Given the description of an element on the screen output the (x, y) to click on. 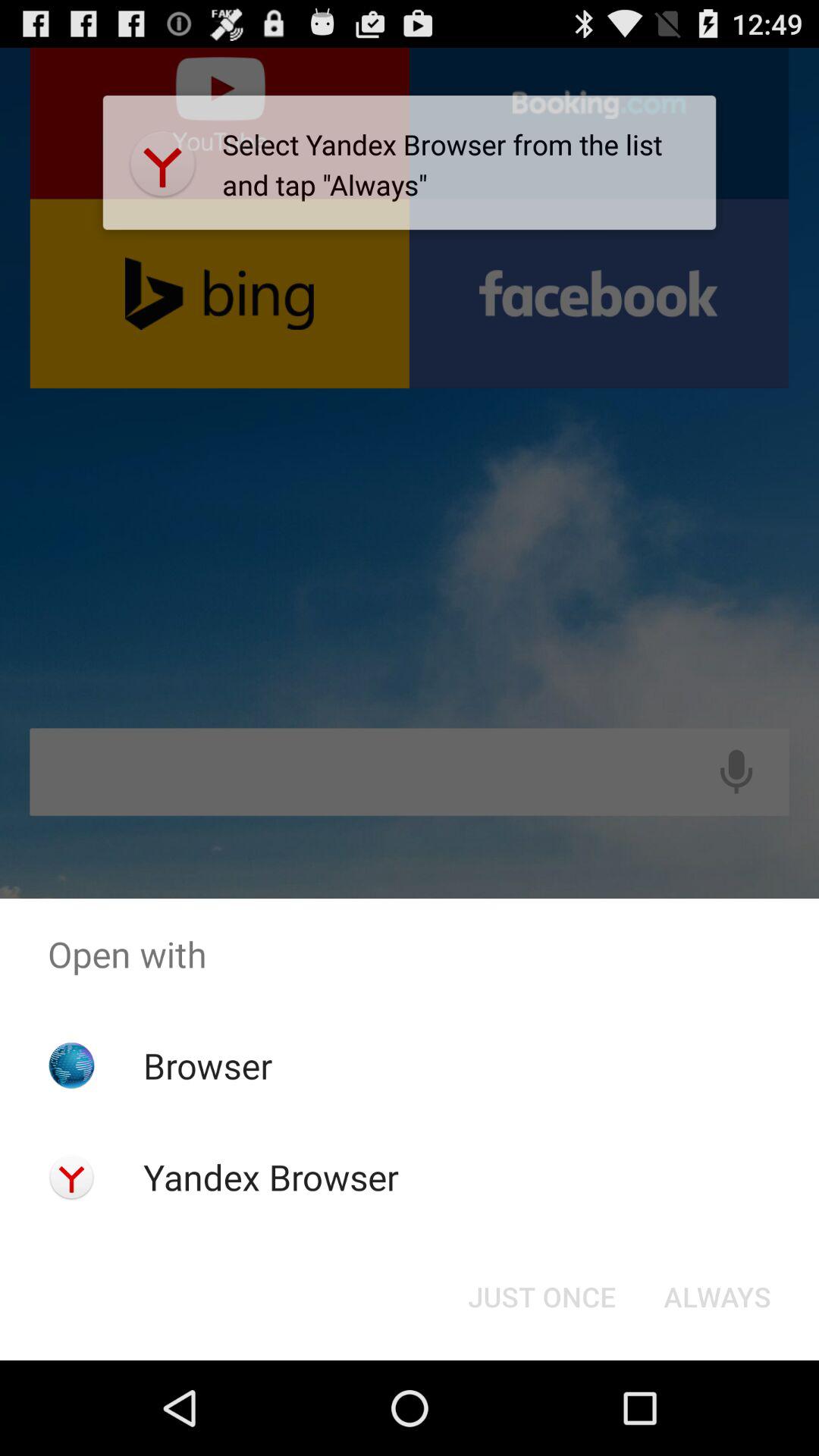
tap always (717, 1296)
